Given the description of an element on the screen output the (x, y) to click on. 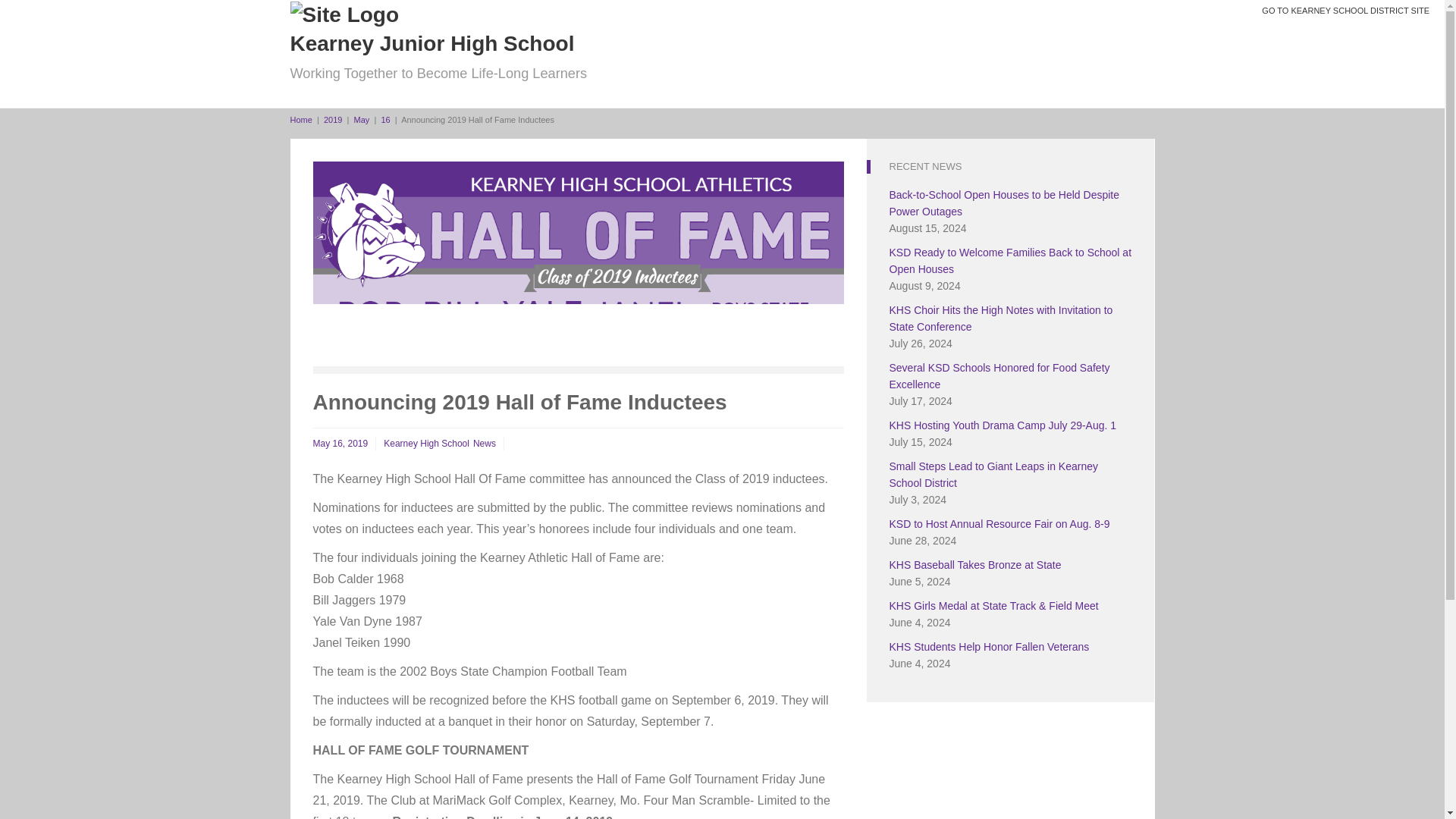
KHS Baseball Takes Bronze at State (974, 564)
16 (385, 119)
KHS Students Help Honor Fallen Veterans (988, 646)
KHS Hosting Youth Drama Camp July 29-Aug. 1 (1002, 425)
Back-to-School Open Houses to be Held Despite Power Outages (1003, 203)
KSD Ready to Welcome Families Back to School at Open Houses (1009, 260)
Home (300, 119)
News (484, 443)
Kearney Junior High School (343, 13)
Kearney Junior High School (300, 119)
